Given the description of an element on the screen output the (x, y) to click on. 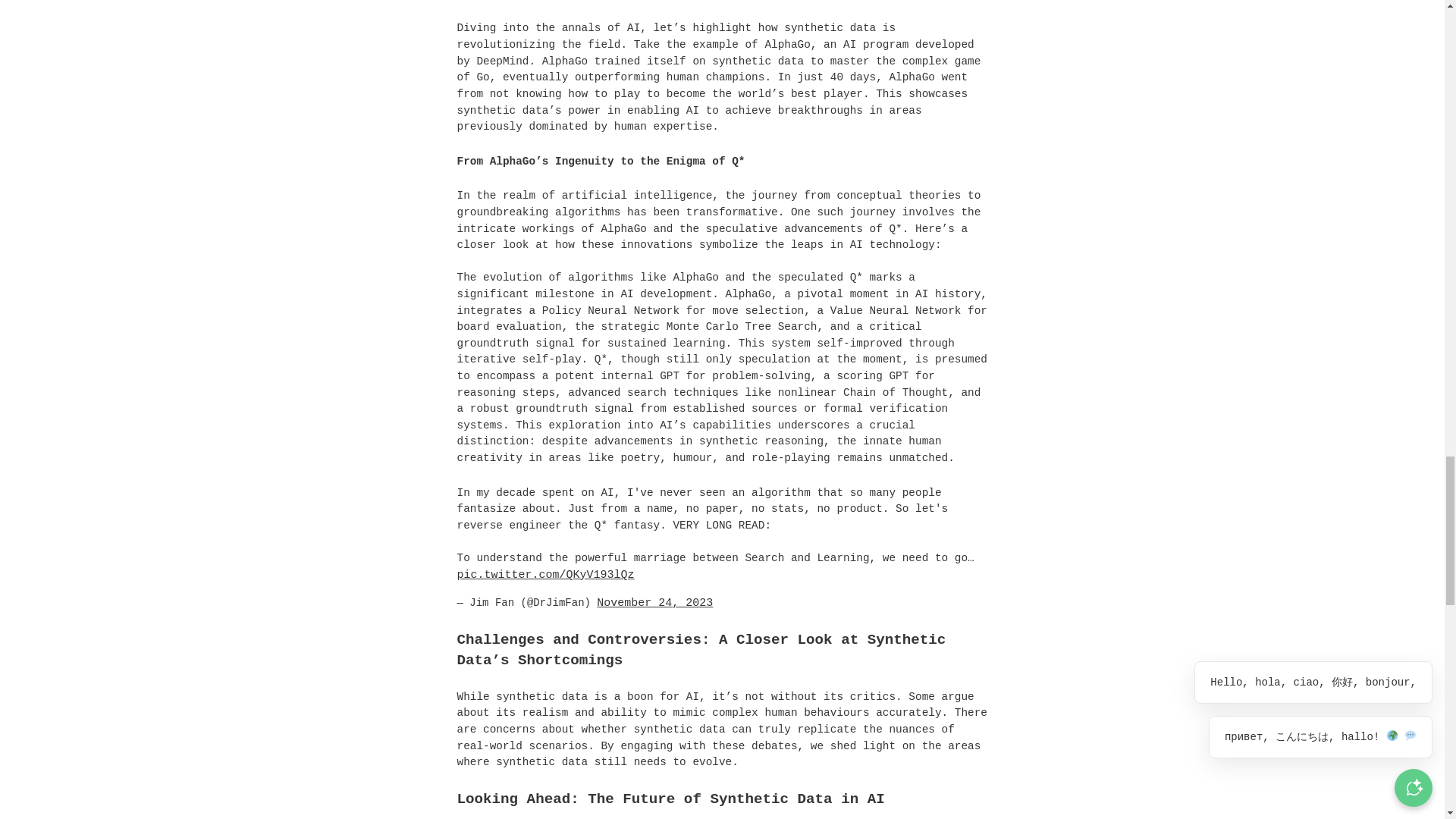
November 24, 2023 (654, 603)
